Given the description of an element on the screen output the (x, y) to click on. 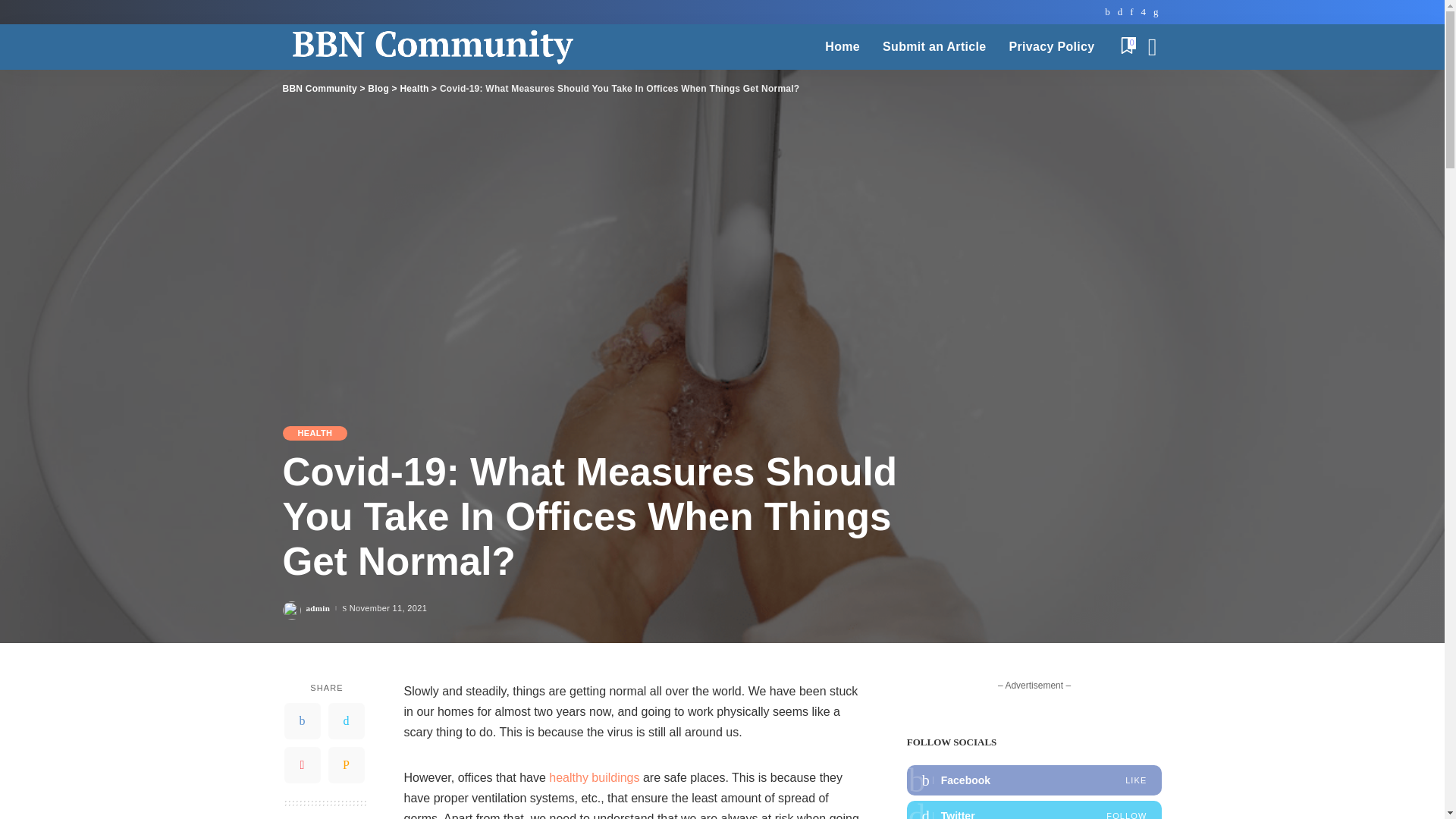
Home (841, 46)
BBN Community (470, 46)
Go to the Health Category archives. (413, 88)
Privacy Policy (1051, 46)
Submit an Article (933, 46)
Go to BBN Community. (319, 88)
Go to Blog. (378, 88)
Search (1140, 89)
